Given the description of an element on the screen output the (x, y) to click on. 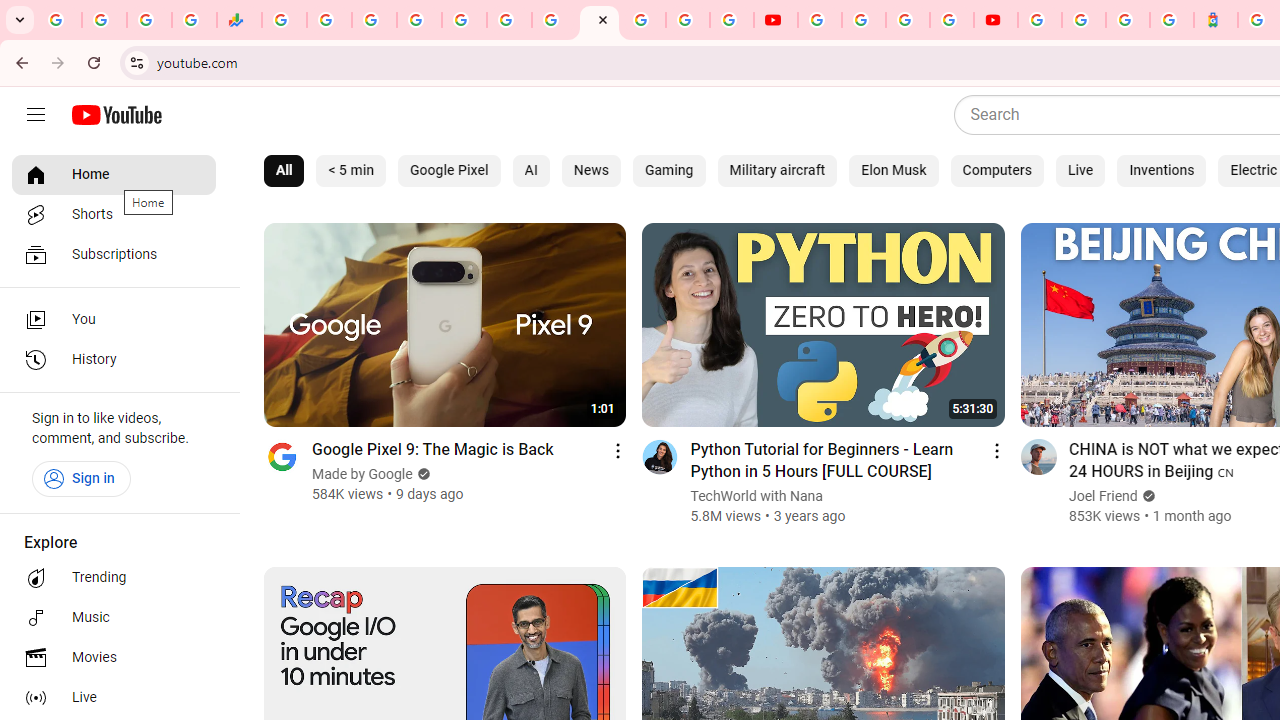
Subscriptions (113, 254)
YouTube (819, 20)
Military aircraft (777, 170)
Elon Musk (893, 170)
Verified (1145, 495)
Made by Google (363, 474)
Gaming (669, 170)
Trending (113, 578)
Computers (996, 170)
Sign in - Google Accounts (643, 20)
